Given the description of an element on the screen output the (x, y) to click on. 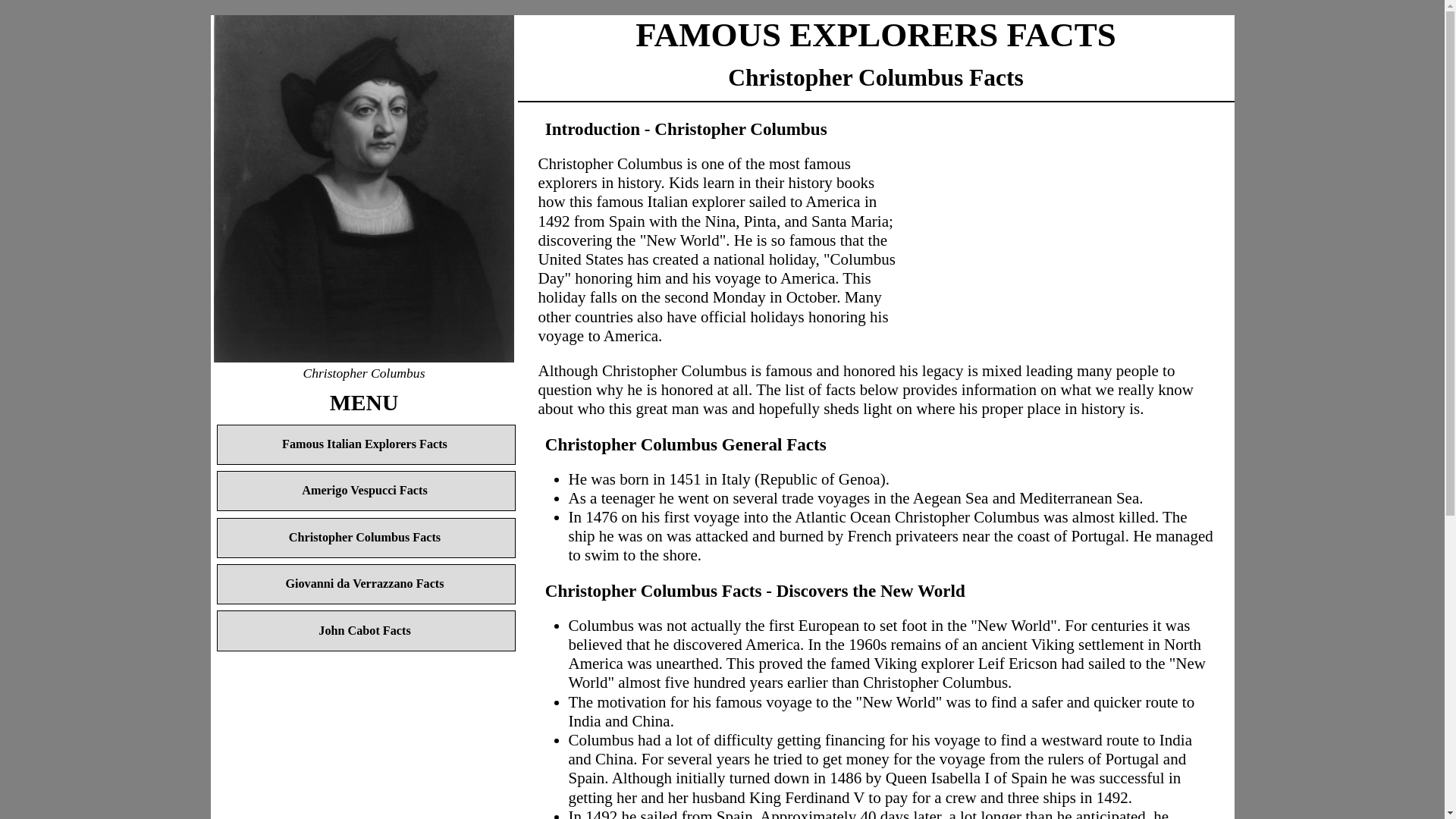
Amerigo Vespucci Facts (366, 490)
Christopher Columbus Facts (366, 537)
Giovanni da Verrazzano Facts (366, 584)
Famous Italian Explorers Facts (366, 445)
Advertisement (1055, 219)
John Cabot Facts (366, 630)
Advertisement (363, 757)
